Given the description of an element on the screen output the (x, y) to click on. 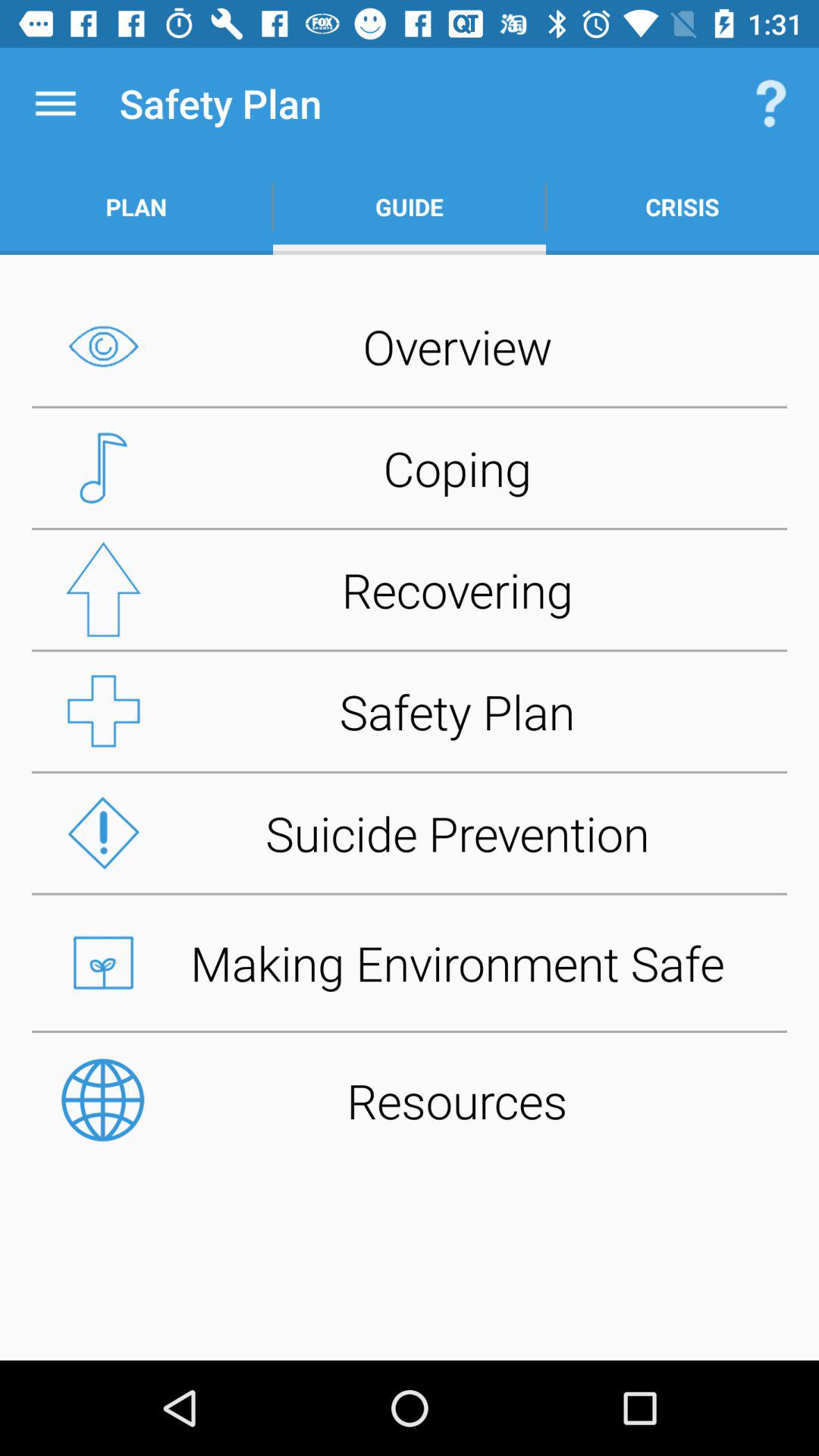
click crisis app (682, 206)
